Given the description of an element on the screen output the (x, y) to click on. 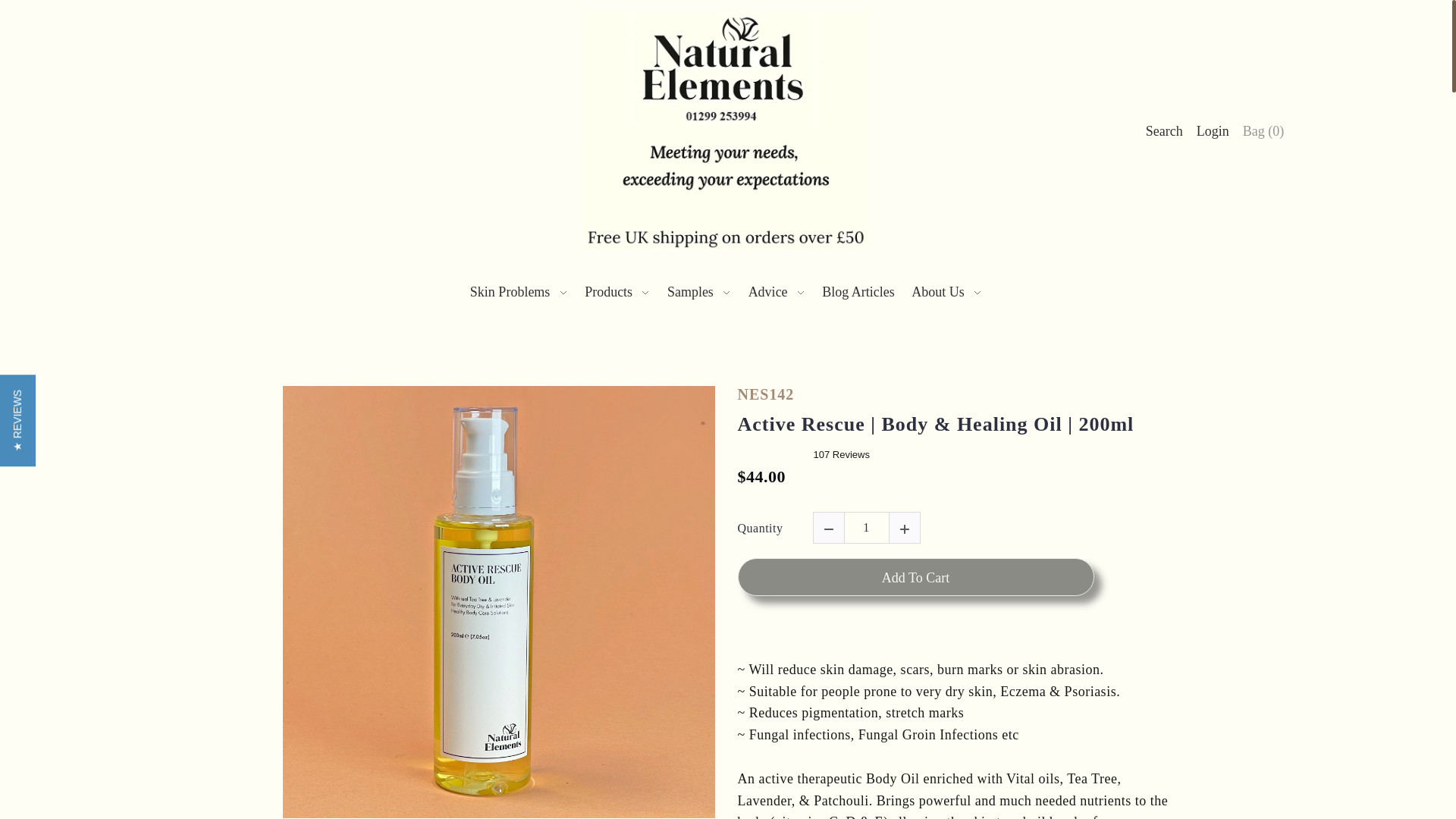
Products (617, 291)
Search (1164, 130)
Skin Problems (519, 291)
1 (865, 527)
Login (1212, 130)
